Given the description of an element on the screen output the (x, y) to click on. 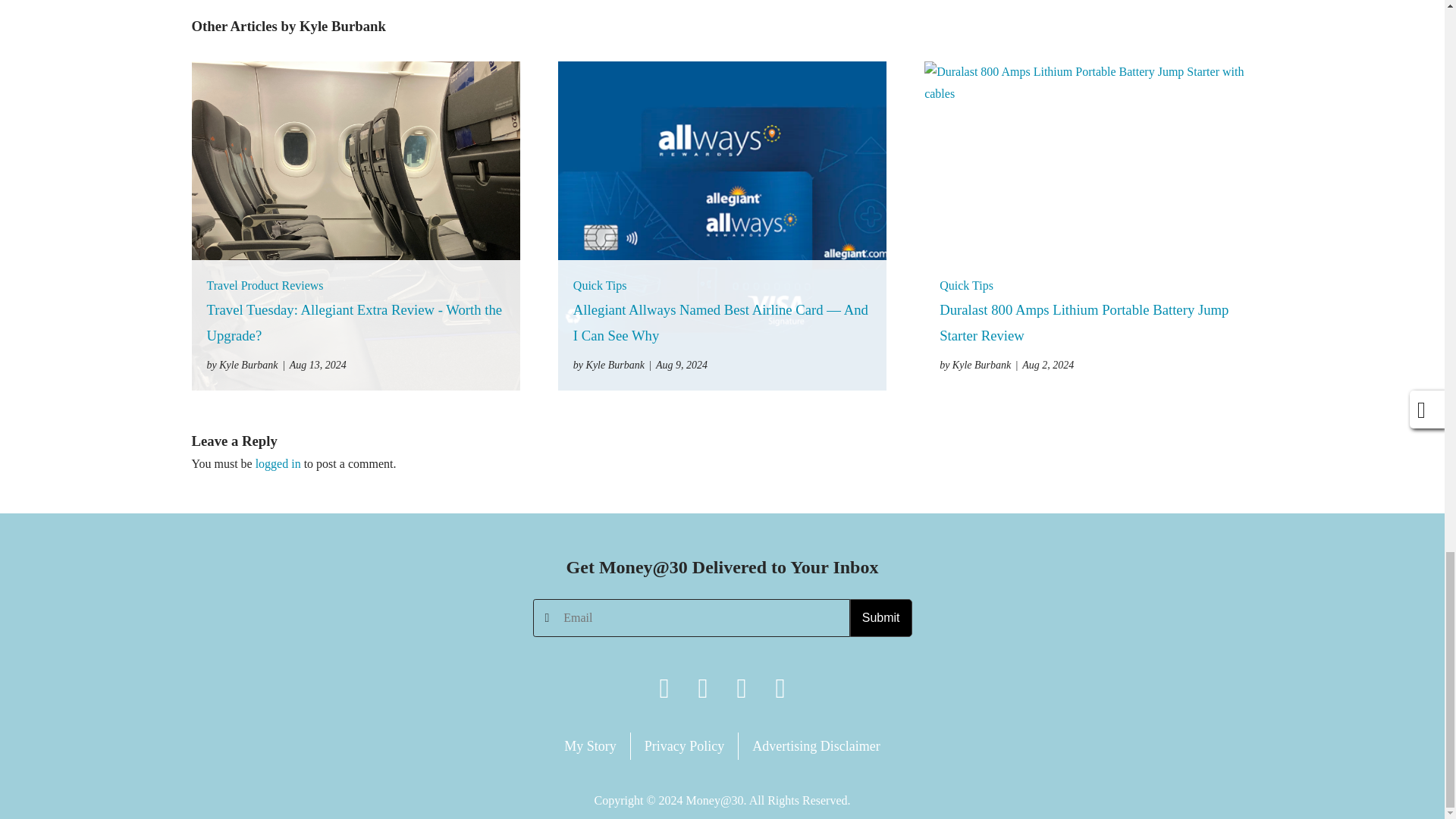
Quick Tips (965, 285)
Posts by Kyle Burbank (609, 364)
logged in (278, 463)
Privacy Policy (685, 745)
My Story (589, 745)
Travel Product Reviews (264, 285)
Submit (881, 617)
Travel Tuesday: Allegiant Extra Review - Worth the Upgrade? (354, 322)
Quick Tips (600, 285)
